Given the description of an element on the screen output the (x, y) to click on. 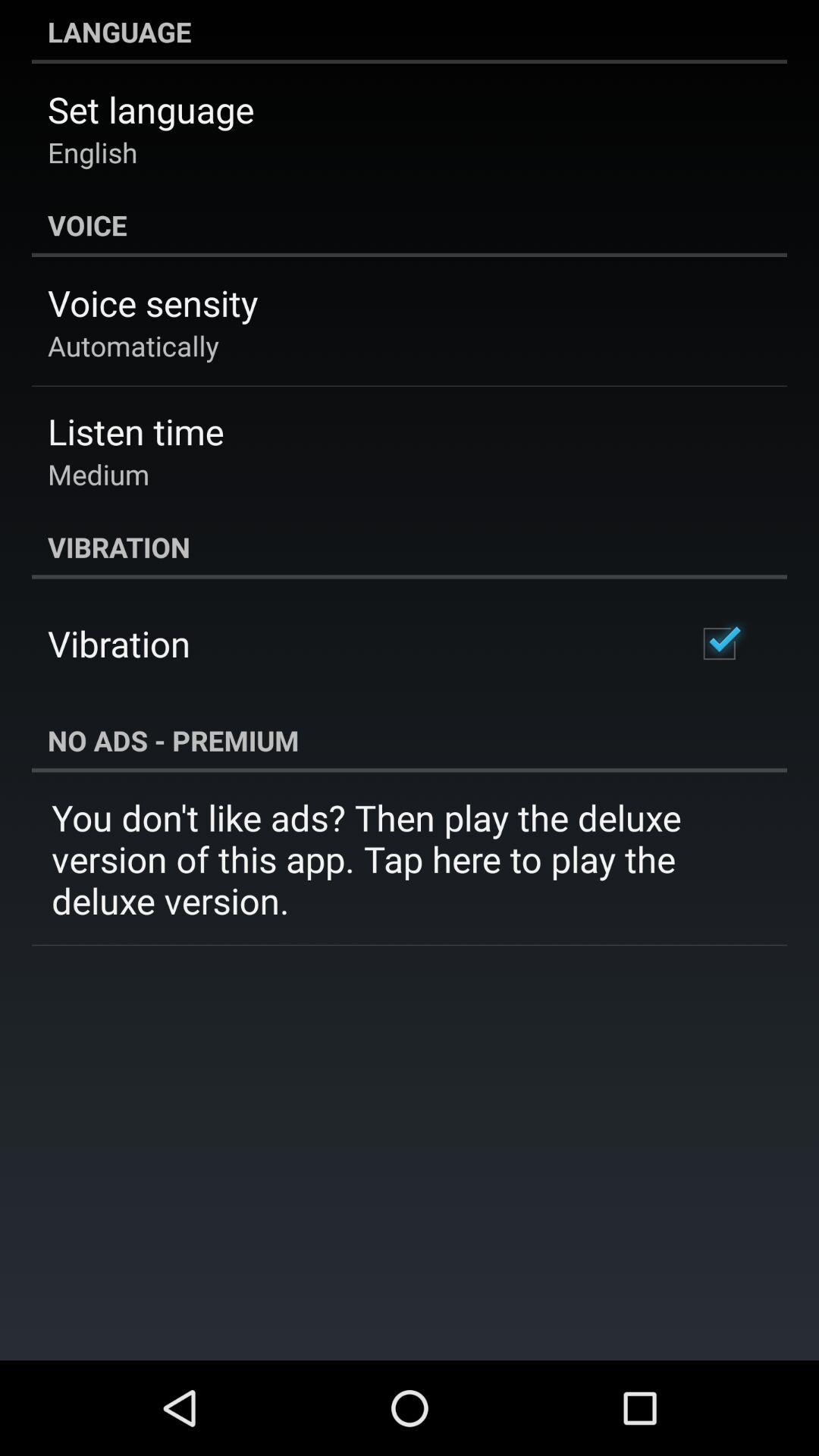
tap app below the voice sensity icon (132, 345)
